Given the description of an element on the screen output the (x, y) to click on. 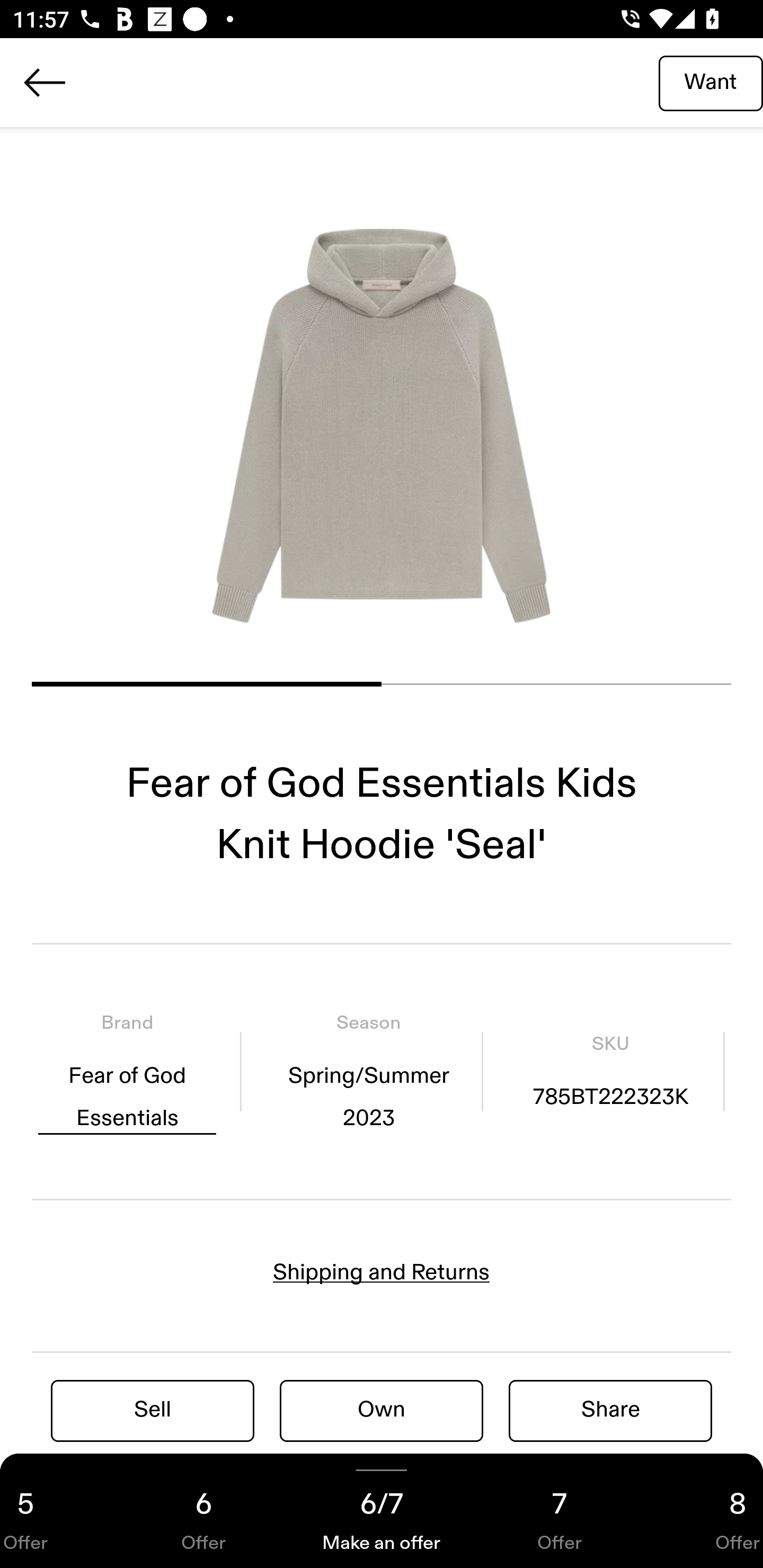
Want (710, 82)
Brand Fear of God Essentials (126, 1070)
Season Spring/Summer 2023 (368, 1070)
SKU 785BT222323K (609, 1070)
Shipping and Returns (381, 1272)
Sell (152, 1410)
Own (381, 1410)
Share (609, 1410)
5 Offer (57, 1510)
6 Offer (203, 1510)
6/7 Make an offer (381, 1510)
7 Offer (559, 1510)
8 Offer (705, 1510)
